Given the description of an element on the screen output the (x, y) to click on. 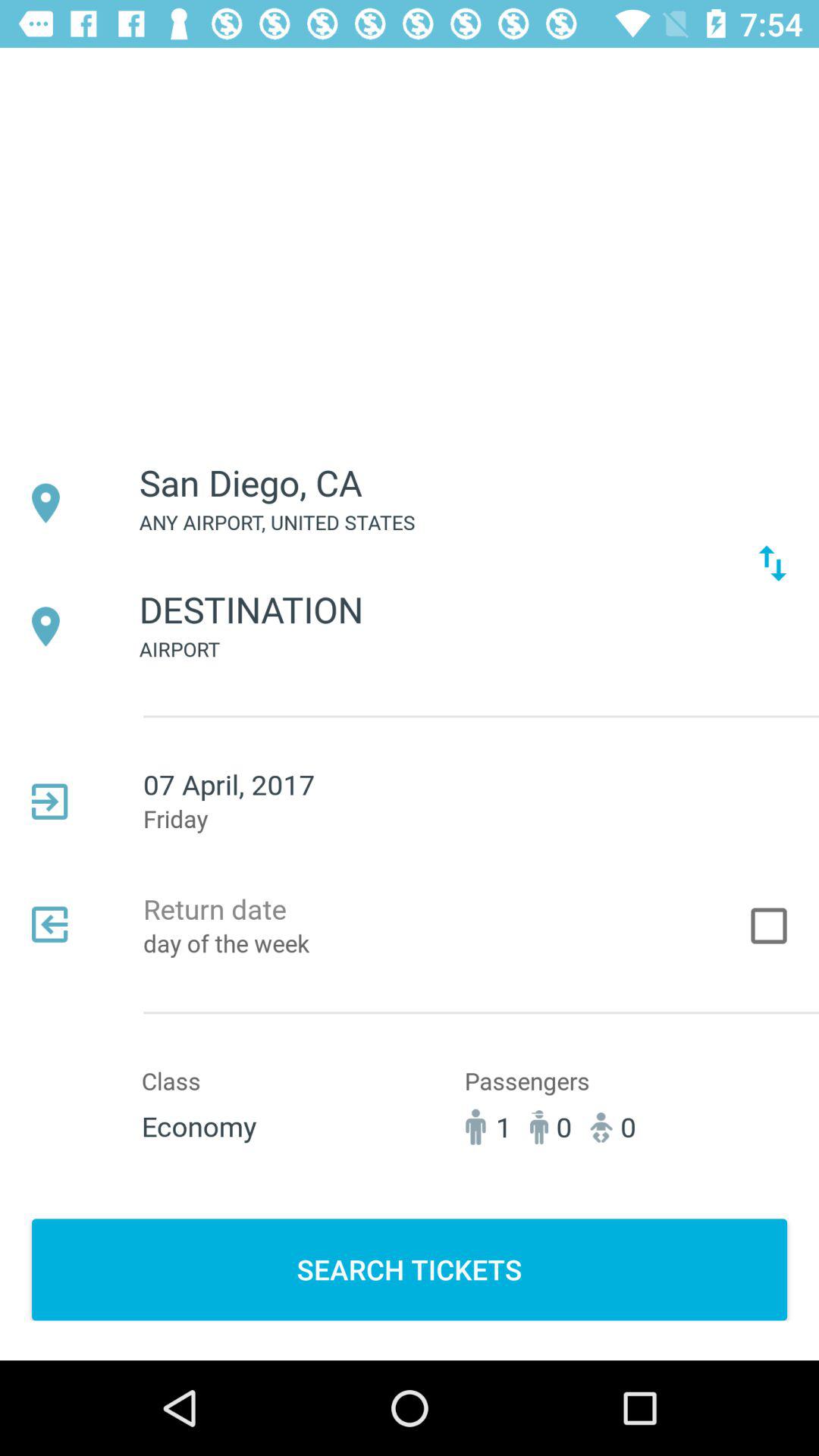
open the icon below 1 (409, 1269)
